Given the description of an element on the screen output the (x, y) to click on. 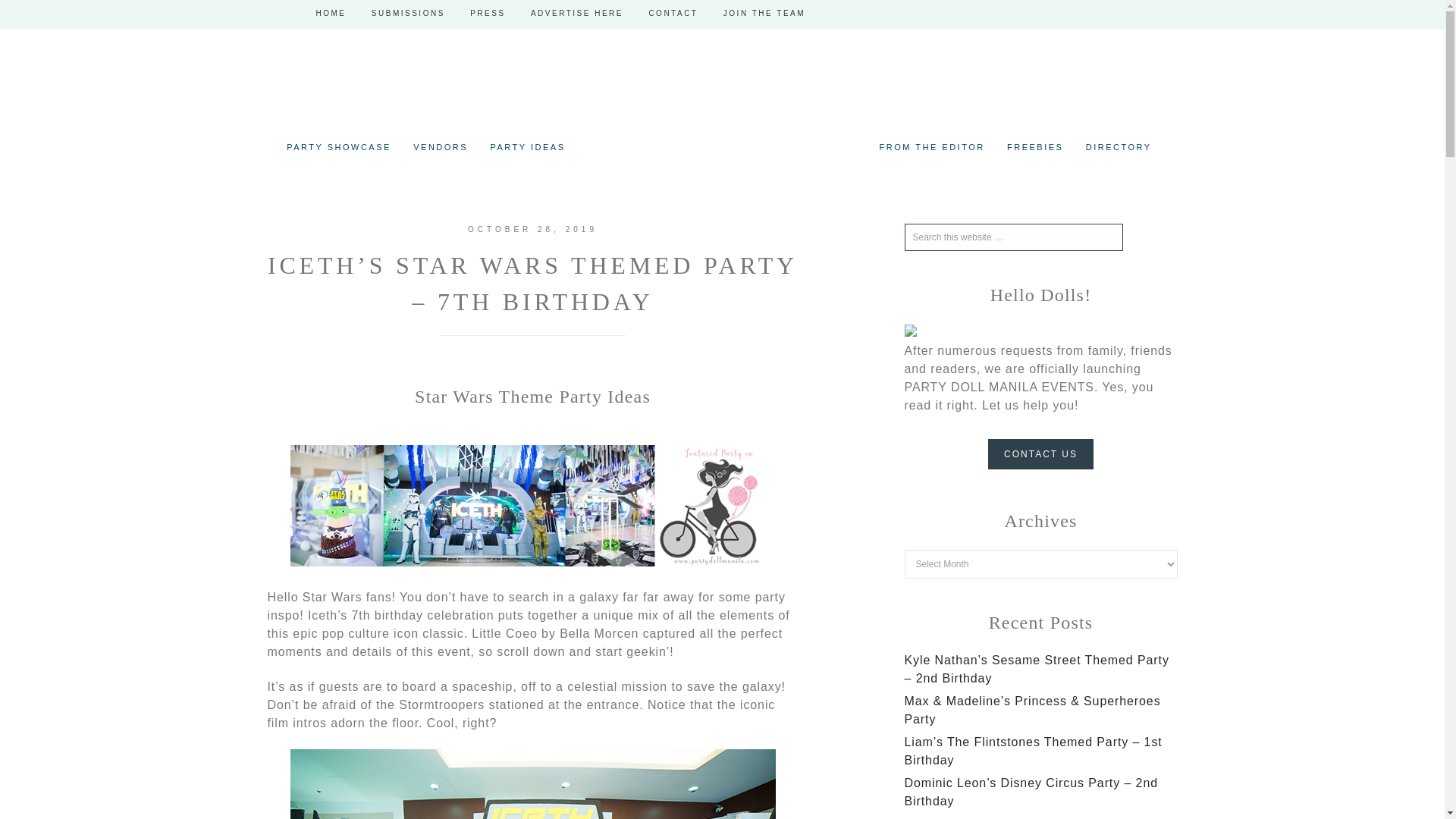
DIRECTORY (1118, 146)
FREEBIES (1034, 146)
PRESS (487, 13)
CONTACT (672, 13)
HOME (330, 13)
PARTY DOLL MANILA (722, 105)
coverA (531, 562)
SUBMISSIONS (408, 13)
VENDORS (440, 146)
